Given the description of an element on the screen output the (x, y) to click on. 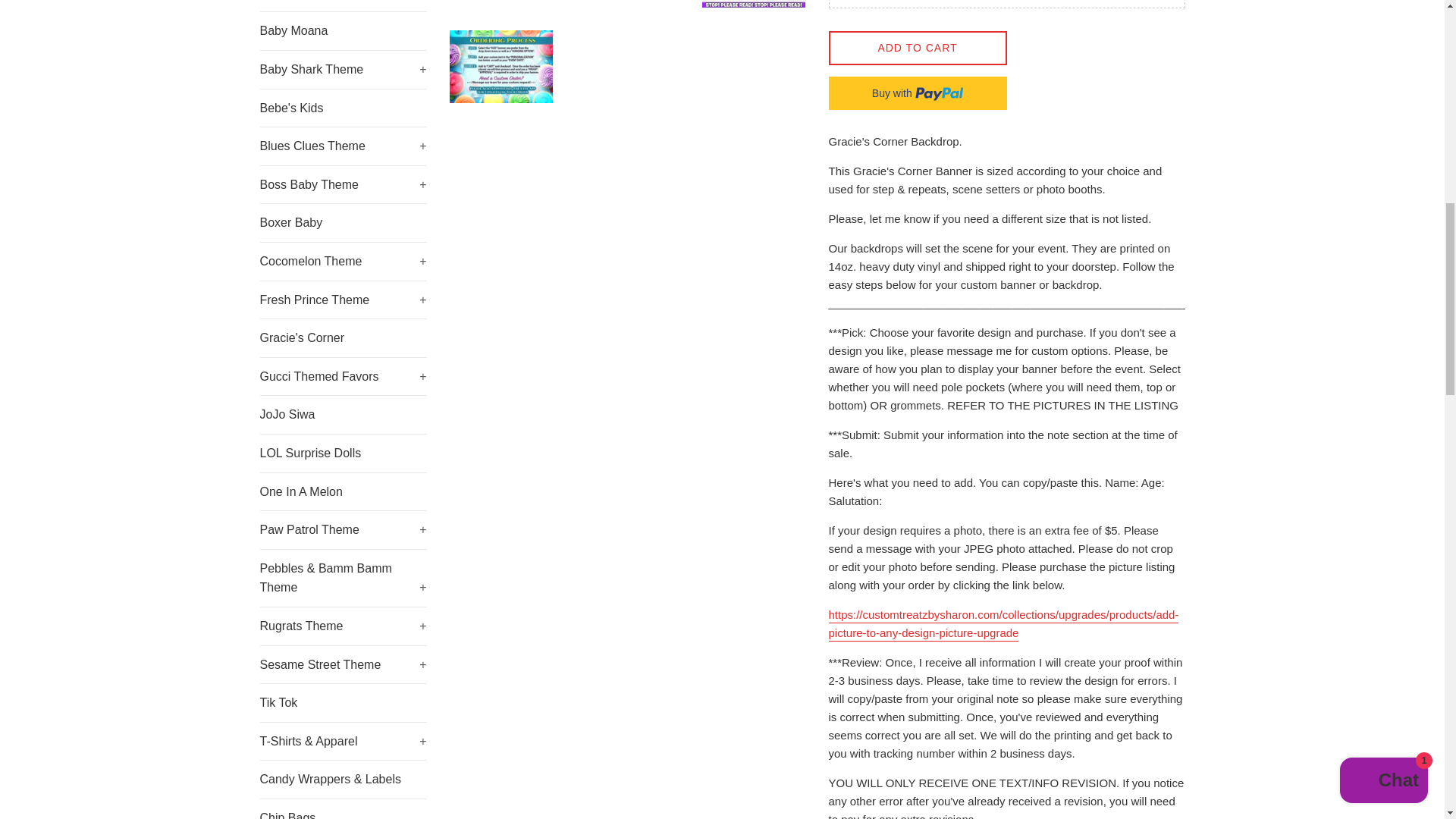
Baby Moana (342, 30)
Bebe's Kids (342, 108)
Custom Designed Favors (342, 6)
